Given the description of an element on the screen output the (x, y) to click on. 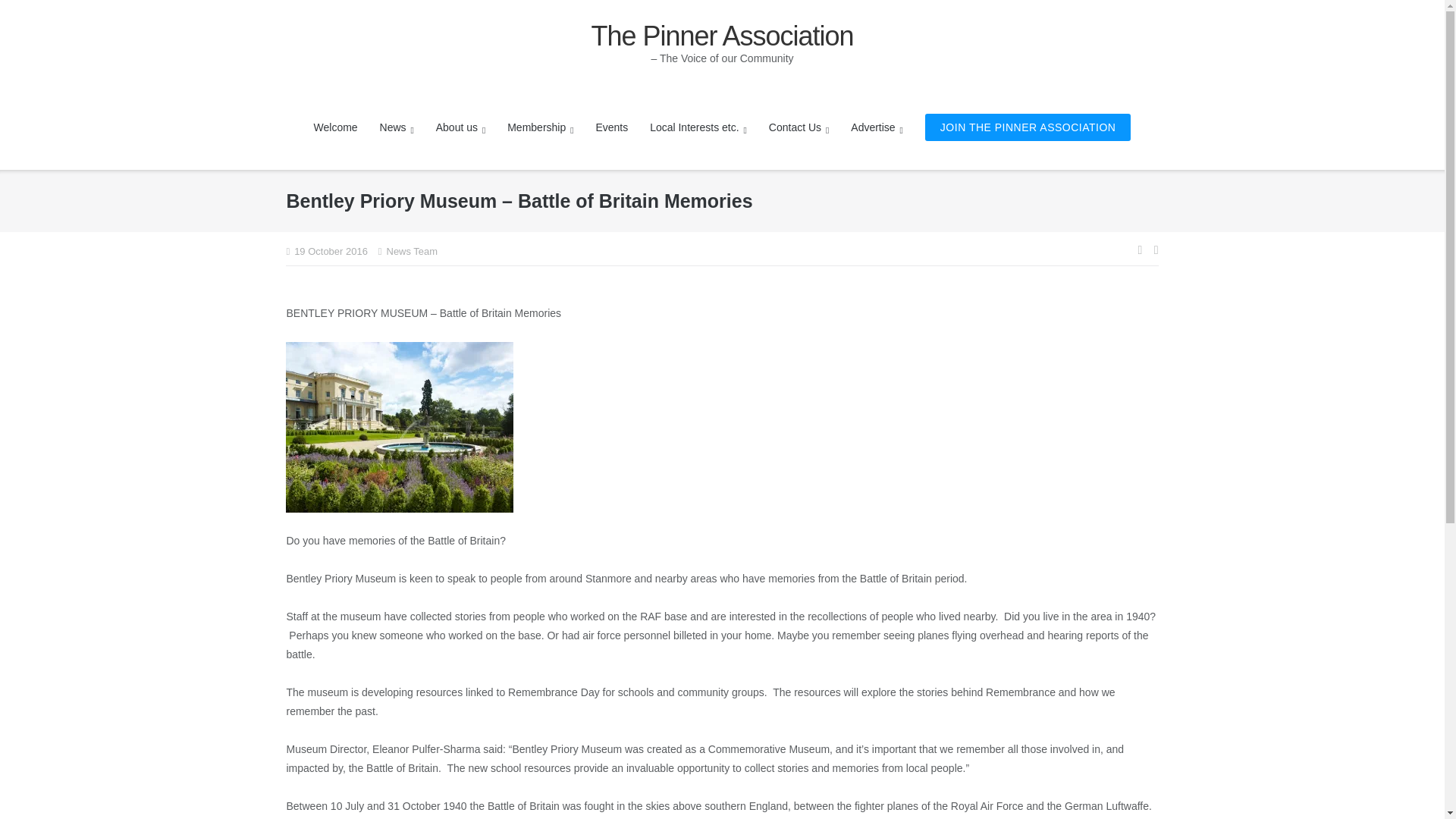
The Pinner Association (722, 36)
News Team (412, 251)
JOIN THE PINNER ASSOCIATION (1027, 126)
Local Interests etc. (697, 127)
JOIN THE PINNER ASSOCIATION (1027, 127)
